Given the description of an element on the screen output the (x, y) to click on. 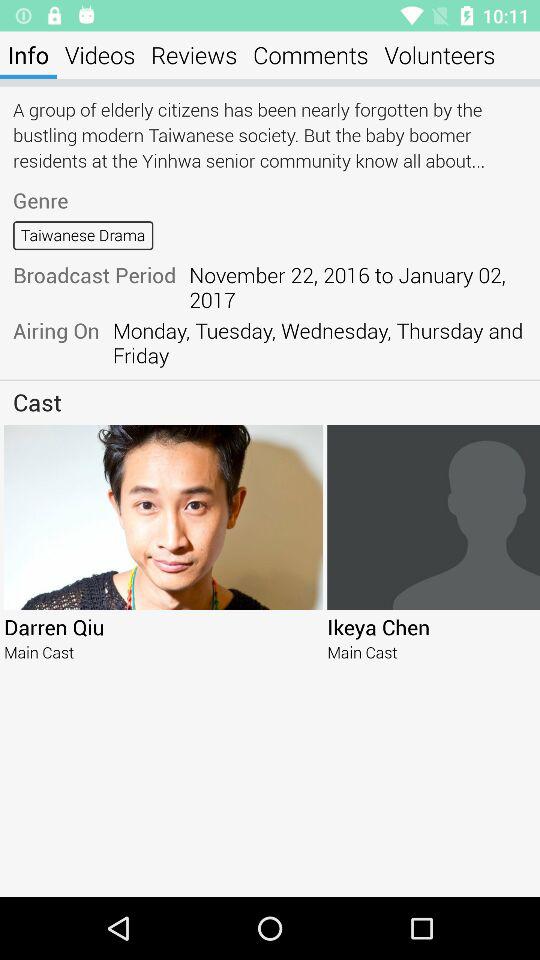
flip to the volunteers icon (439, 54)
